Given the description of an element on the screen output the (x, y) to click on. 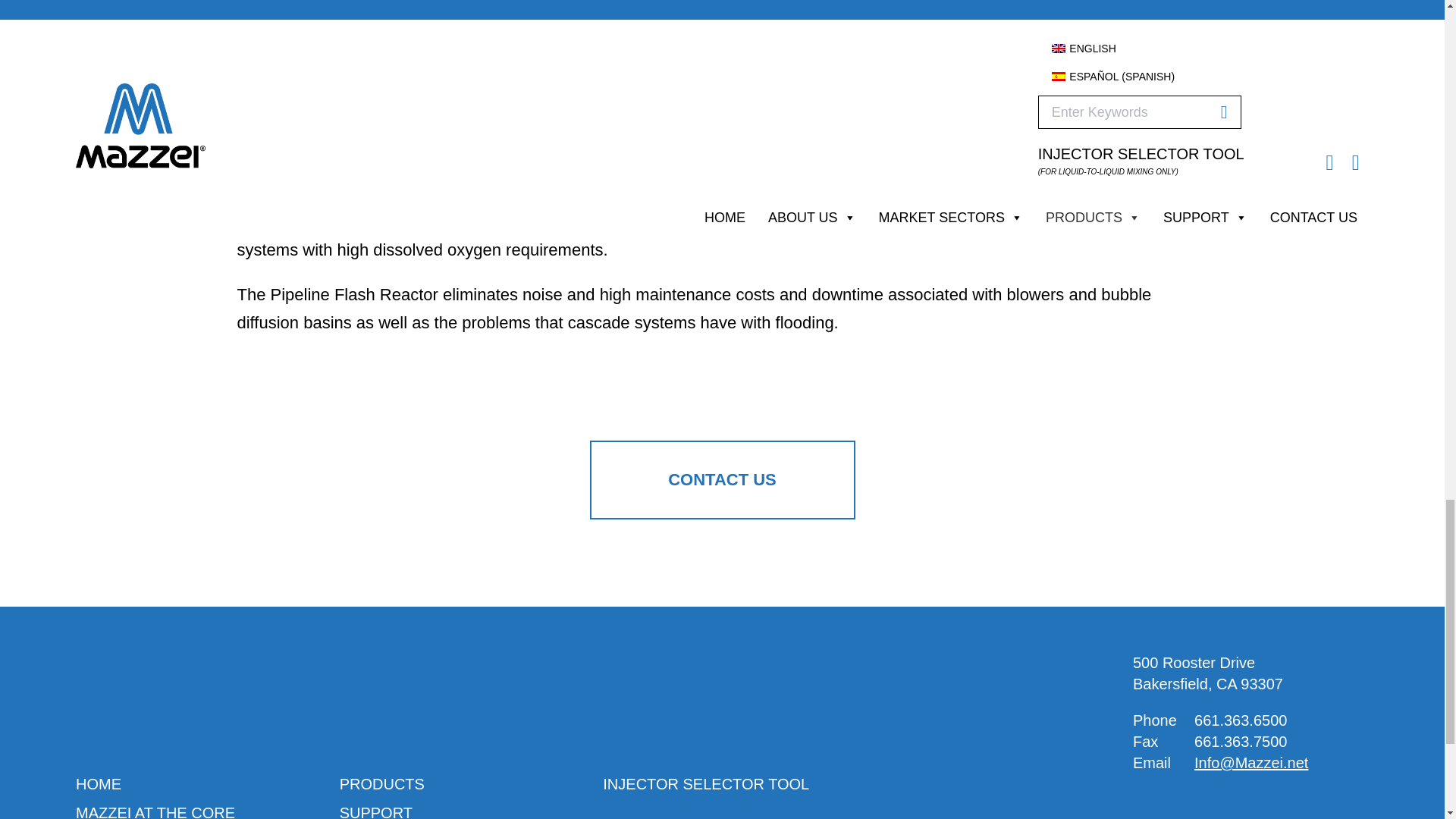
Contact Us (722, 479)
